Given the description of an element on the screen output the (x, y) to click on. 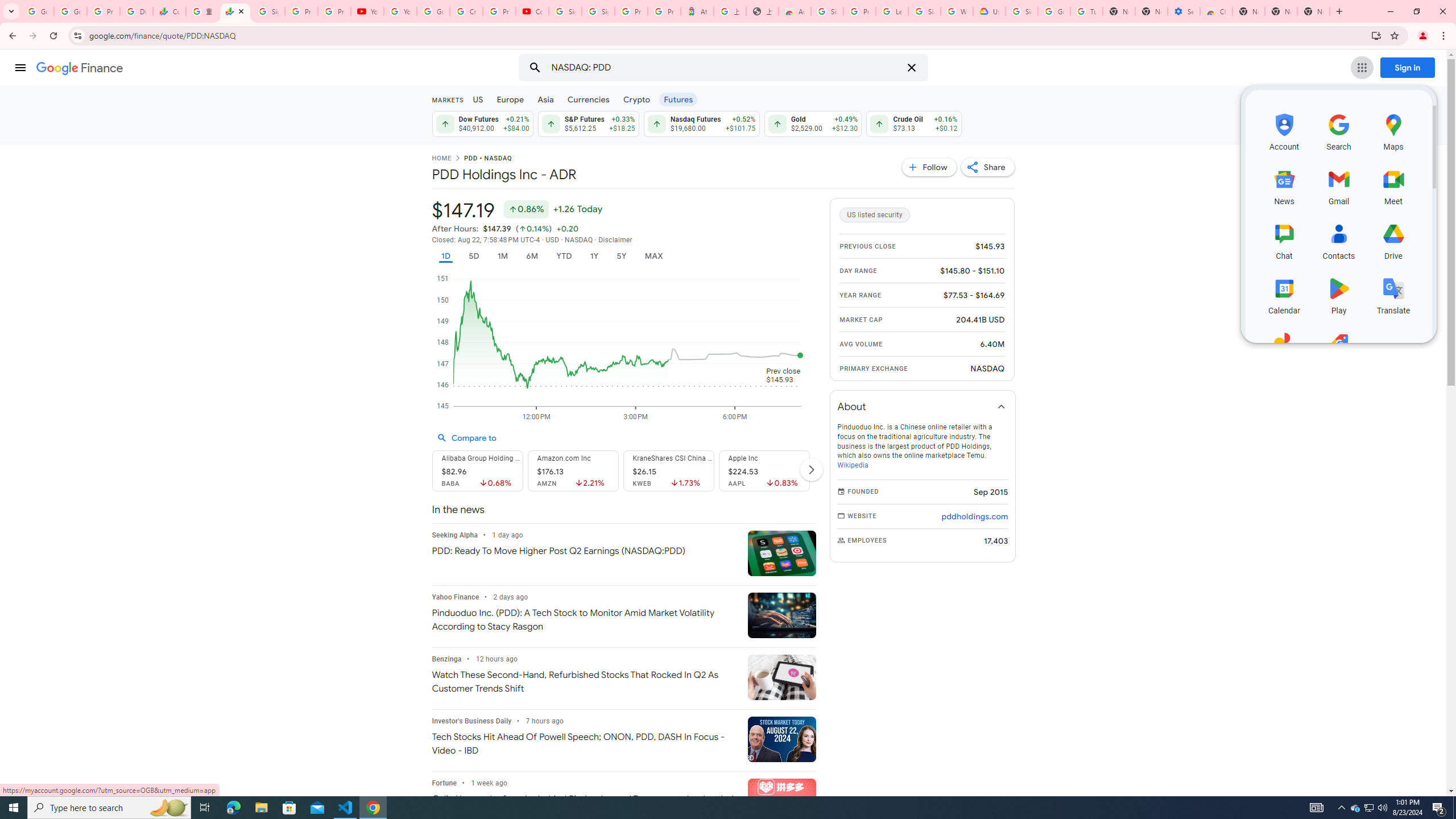
US (477, 99)
YouTube (367, 11)
1D (445, 255)
Content Creator Programs & Opportunities - YouTube Creators (532, 11)
Privacy Checkup (334, 11)
5Y (621, 255)
pddholdings.com (974, 516)
Settings - Accessibility (1183, 11)
Google Account Help (433, 11)
